Given the description of an element on the screen output the (x, y) to click on. 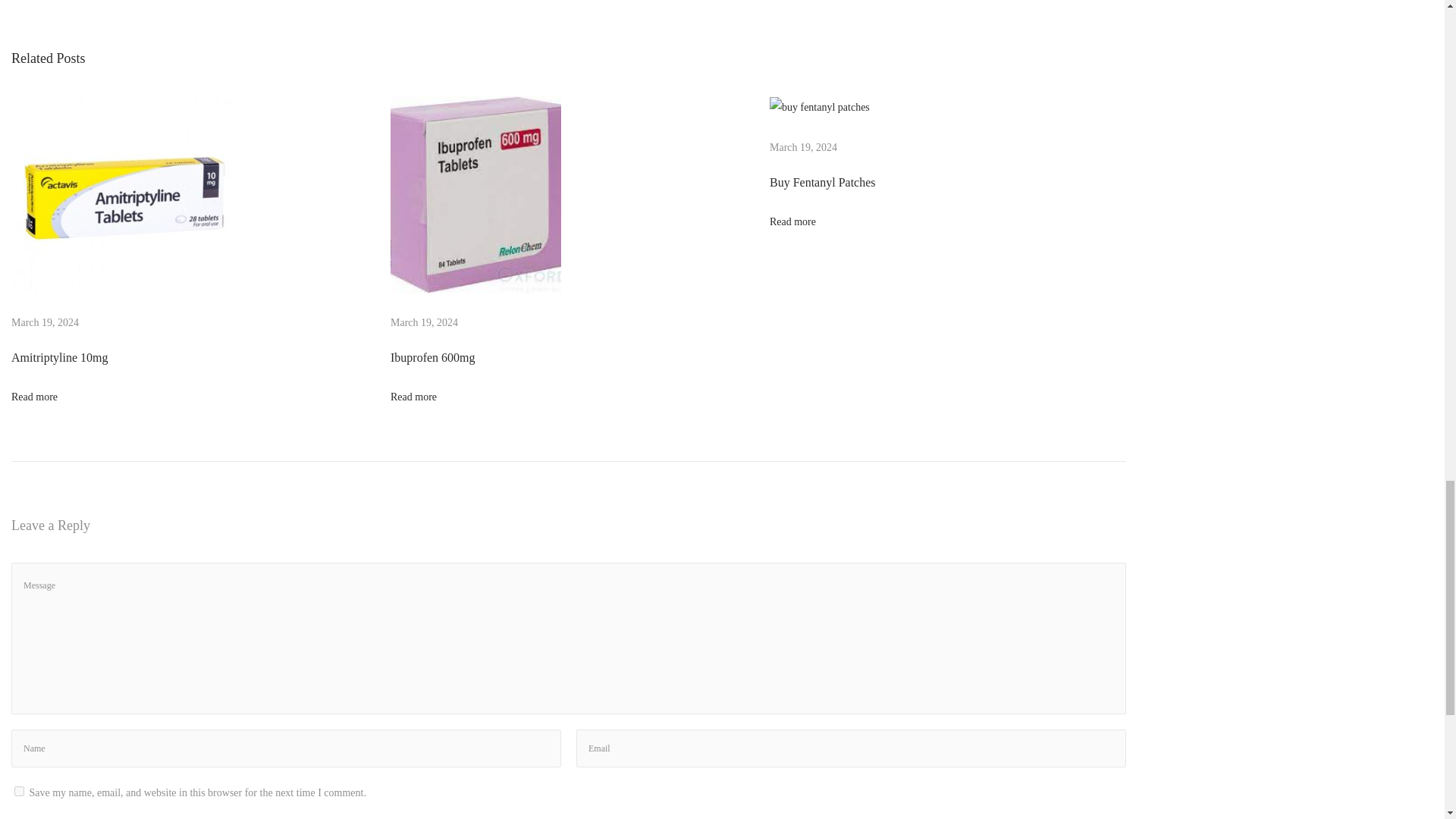
Amitriptyline 10mg (59, 357)
Read more (34, 396)
yes (19, 791)
